Given the description of an element on the screen output the (x, y) to click on. 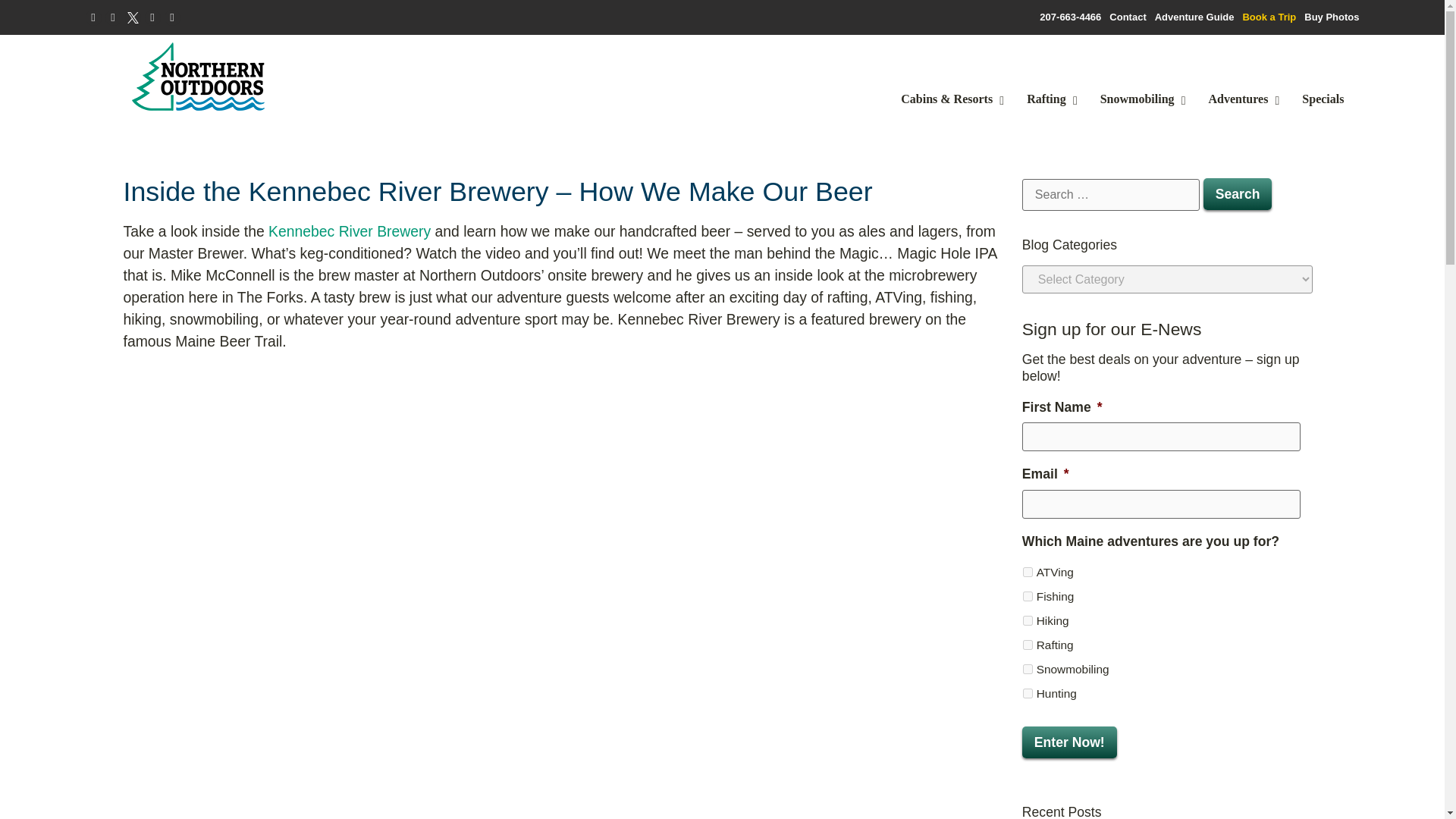
Rafting (1027, 644)
Enter Now! (1069, 742)
Book a Trip (1268, 17)
Snowmobiling (1027, 669)
cropped-nologo2015colortransparnent.png (198, 76)
Adventure Guide (1194, 17)
Contact (1127, 17)
ATVing (1027, 572)
Search (1238, 193)
Search (1238, 193)
Fishing (1027, 596)
Rafting (1047, 99)
Hiking (1027, 620)
Hunting (1027, 693)
Buy Photos (1331, 17)
